Given the description of an element on the screen output the (x, y) to click on. 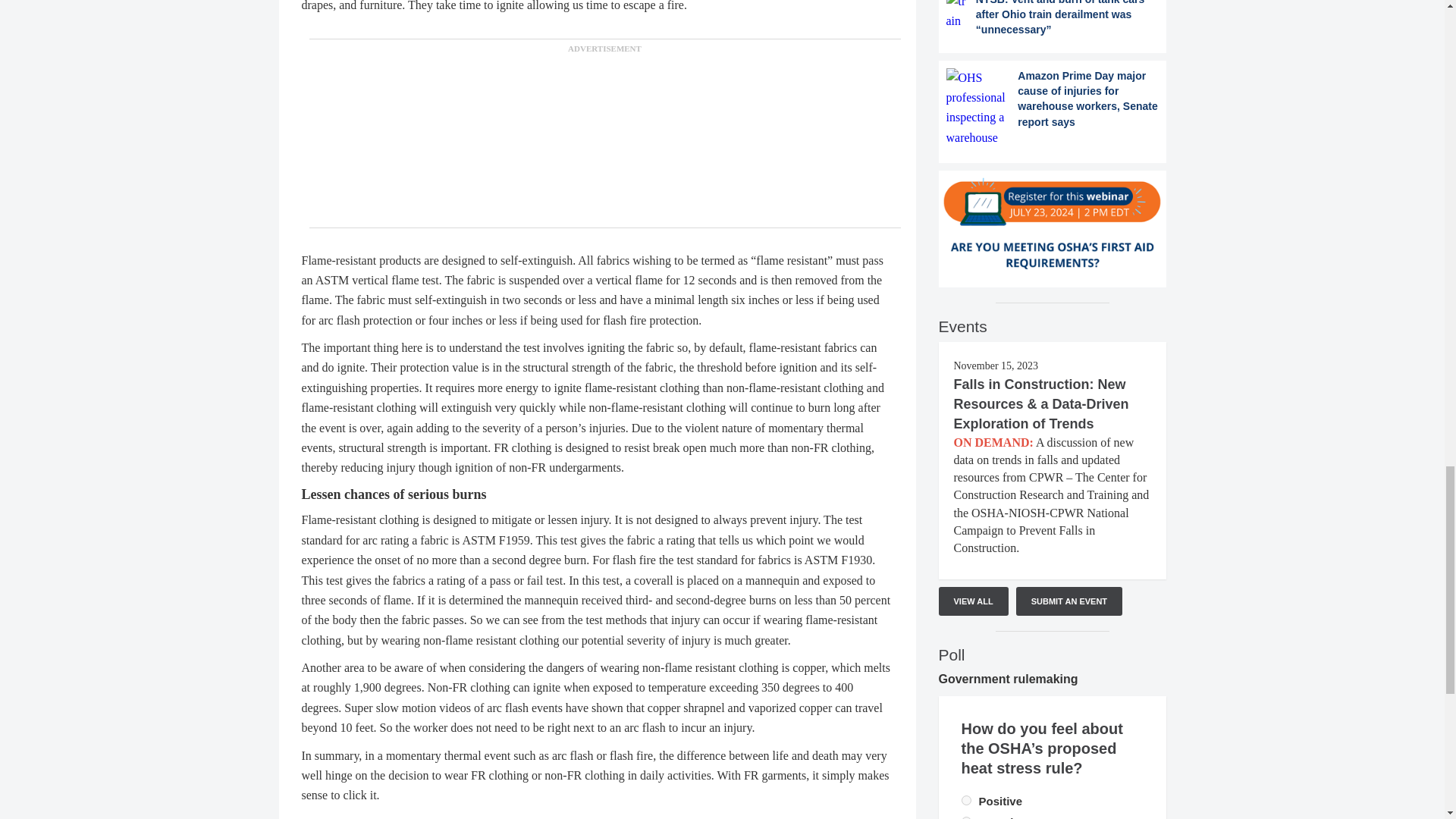
142 (965, 800)
